Given the description of an element on the screen output the (x, y) to click on. 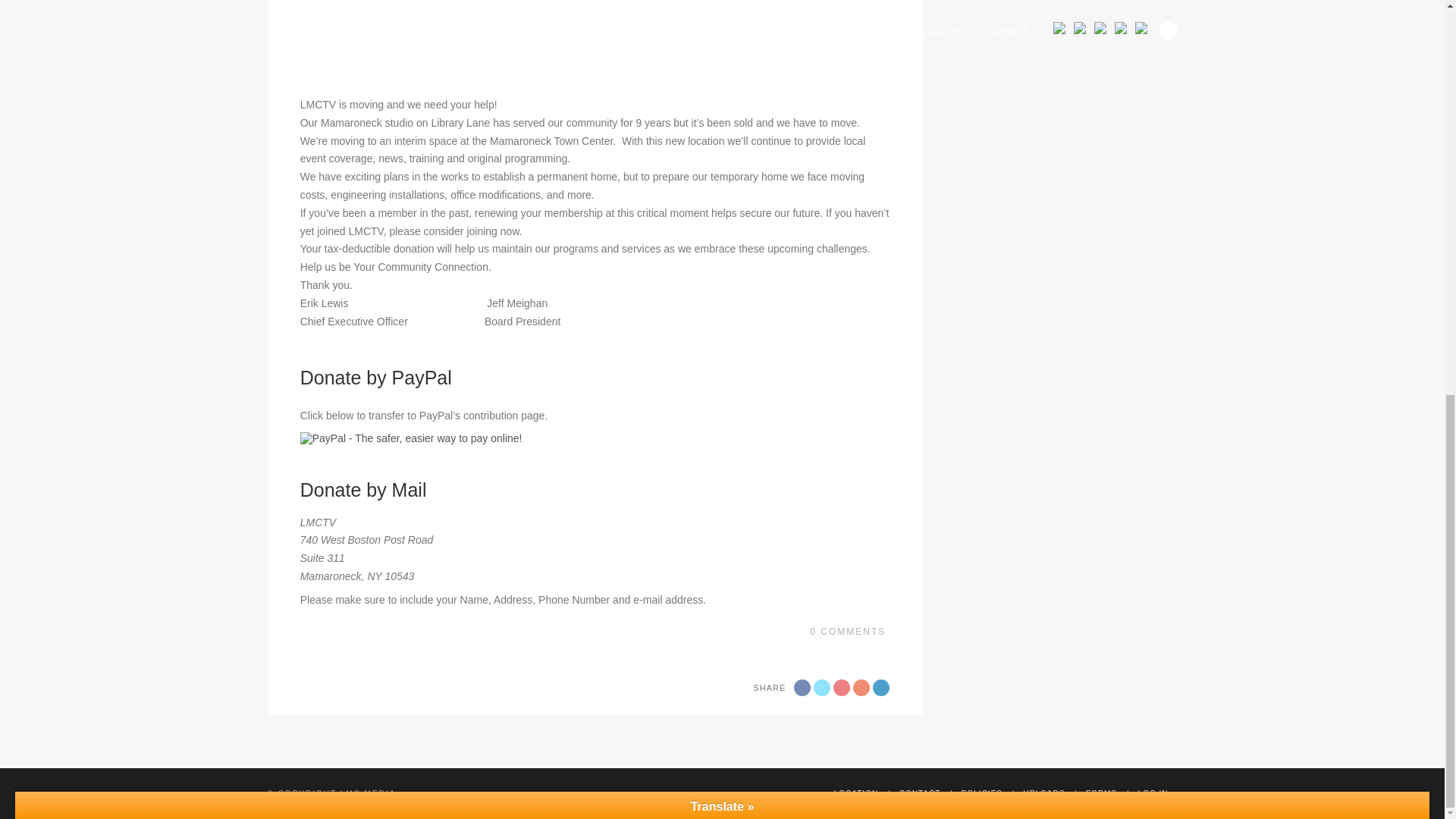
Twitter (821, 687)
Pinterest (861, 687)
Facebook (801, 687)
LinkedIn (880, 687)
